Given the description of an element on the screen output the (x, y) to click on. 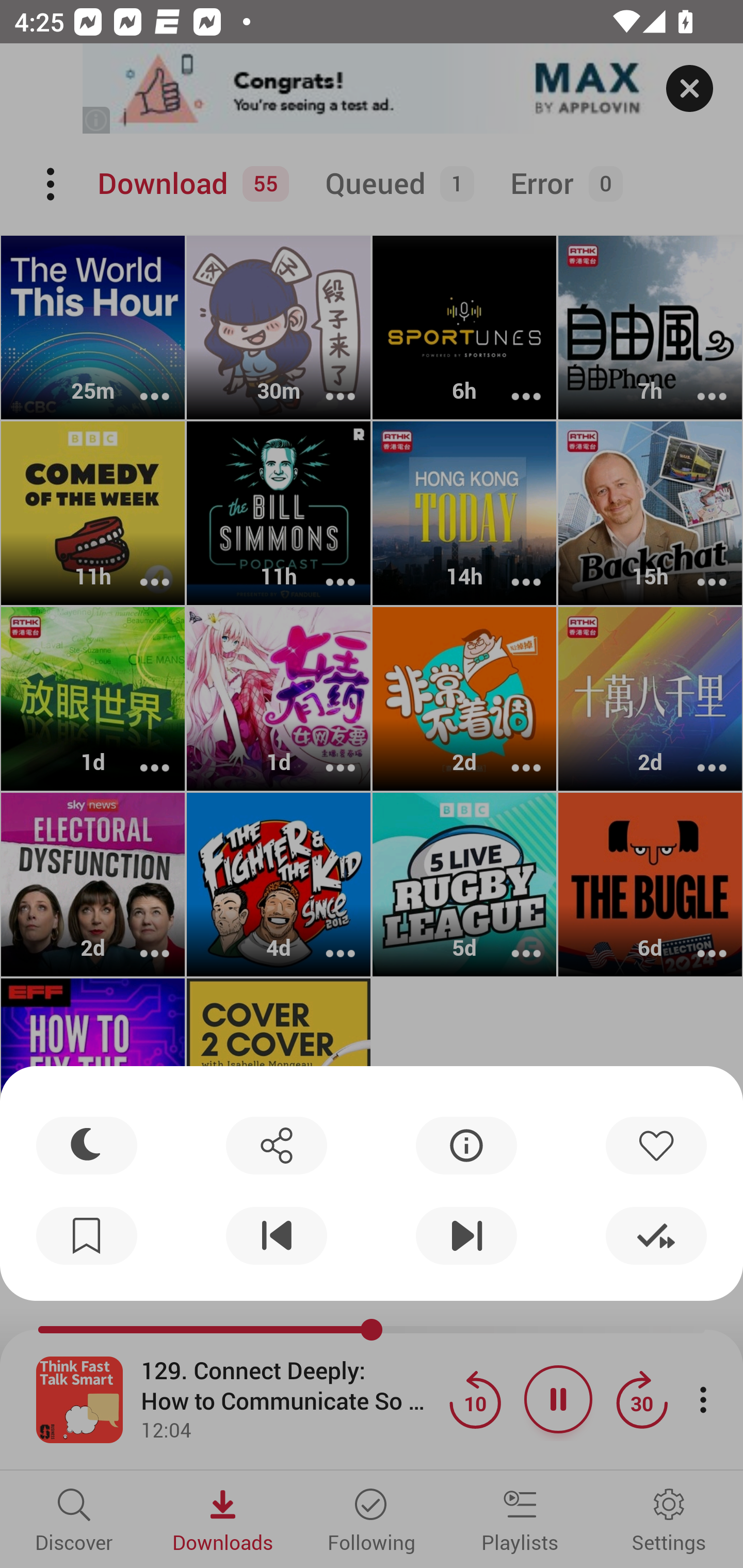
Sleep timer (86, 1145)
Share (275, 1145)
Info (466, 1145)
Like (655, 1145)
New bookmark … (86, 1236)
Previous (275, 1236)
Next (466, 1236)
Mark played and next (655, 1236)
